Given the description of an element on the screen output the (x, y) to click on. 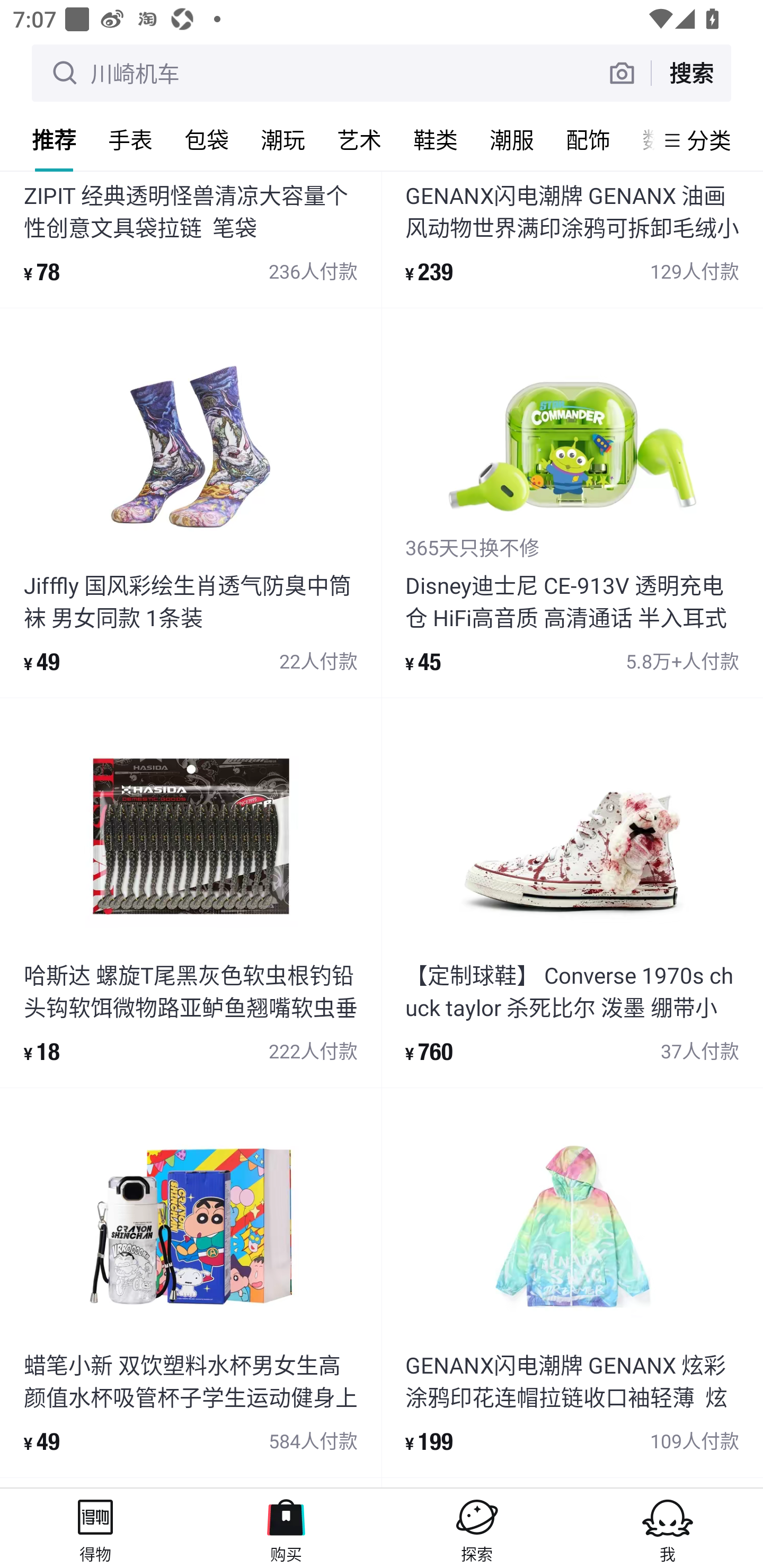
搜索 (690, 72)
推荐 (54, 139)
手表 (130, 139)
包袋 (206, 139)
潮玩 (282, 139)
艺术 (359, 139)
鞋类 (435, 139)
潮服 (511, 139)
配饰 (588, 139)
分类 (708, 139)
得物 (95, 1528)
购买 (285, 1528)
探索 (476, 1528)
我 (667, 1528)
